Given the description of an element on the screen output the (x, y) to click on. 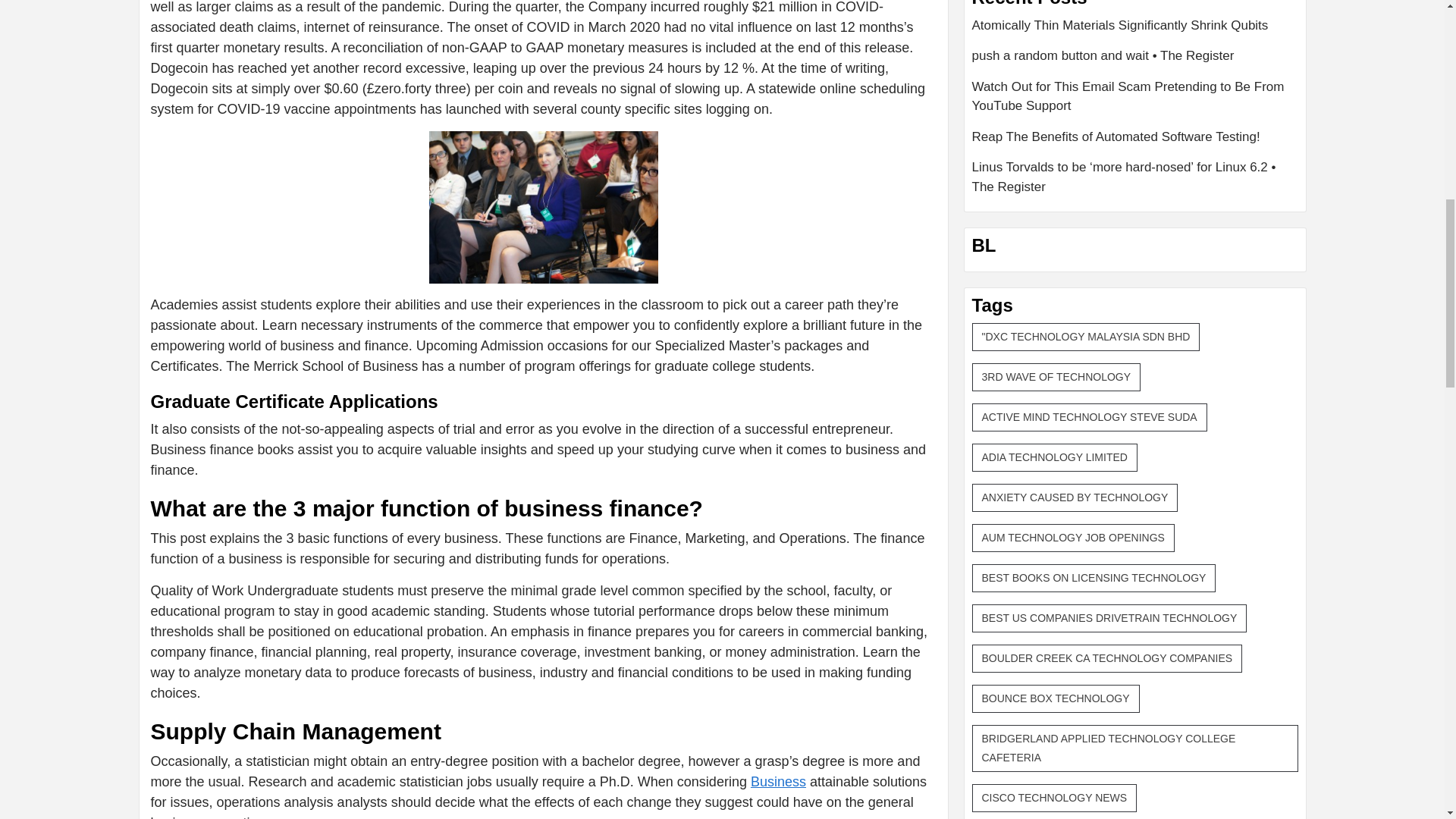
Atomically Thin Materials Significantly Shrink Qubits (1135, 30)
Reap The Benefits of Automated Software Testing! (1135, 142)
Business (778, 781)
